Given the description of an element on the screen output the (x, y) to click on. 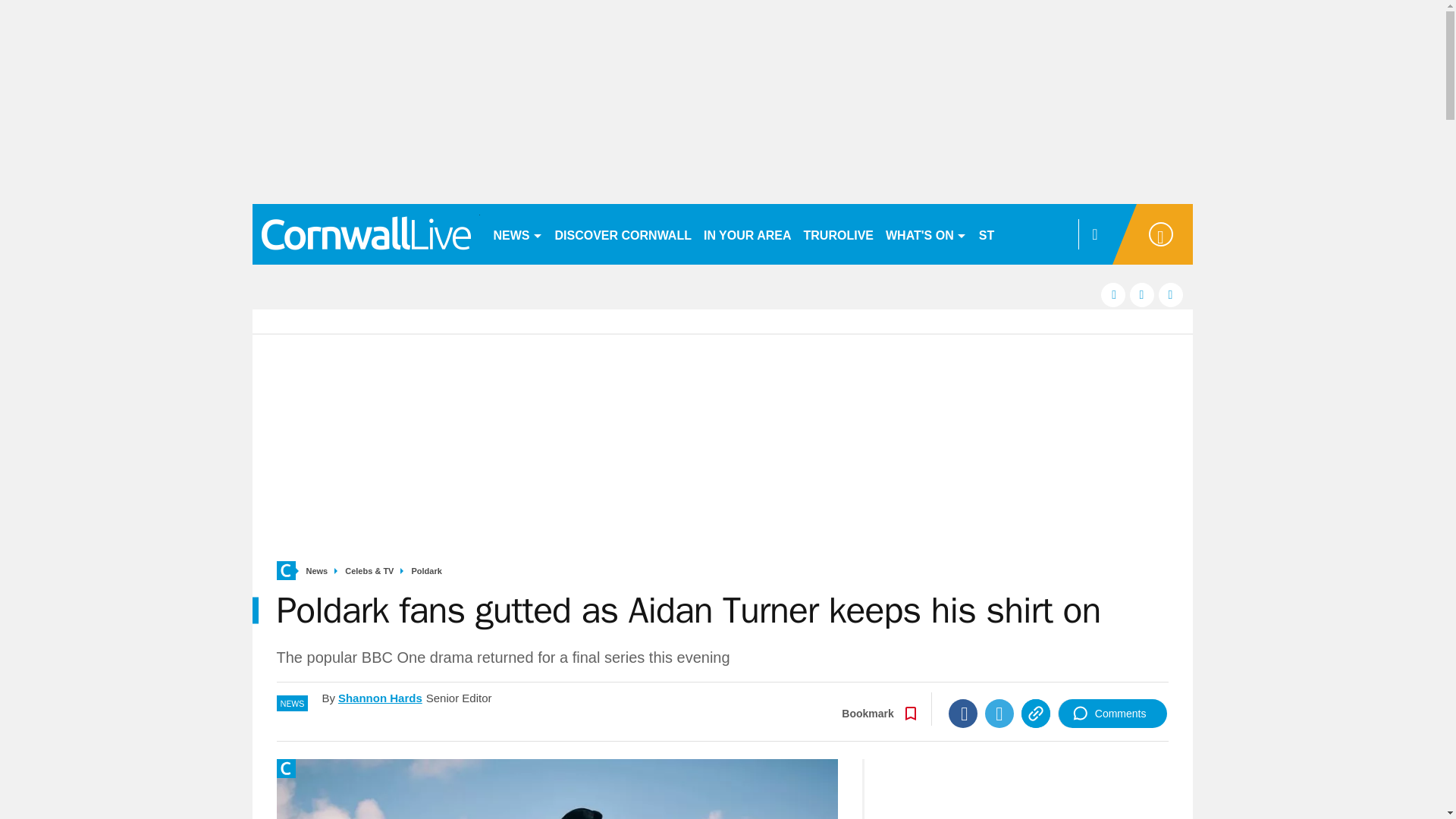
Comments (1112, 713)
Facebook (962, 713)
NEWS (517, 233)
WHAT'S ON (925, 233)
Twitter (999, 713)
IN YOUR AREA (747, 233)
instagram (1170, 294)
TRUROLIVE (838, 233)
twitter (1141, 294)
DISCOVER CORNWALL (622, 233)
